Given the description of an element on the screen output the (x, y) to click on. 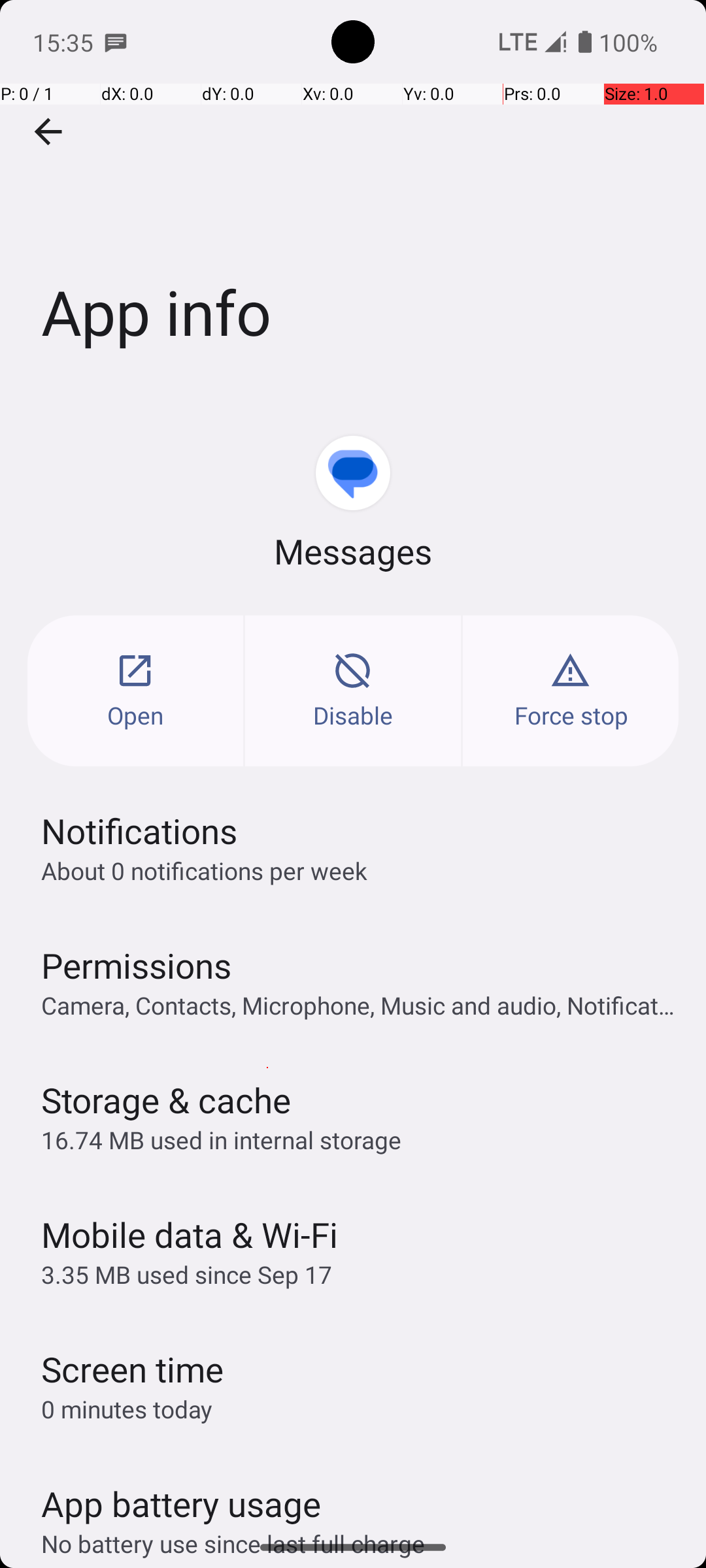
Disable Element type: android.widget.Button (352, 690)
About 0 notifications per week Element type: android.widget.TextView (204, 870)
Camera, Contacts, Microphone, Music and audio, Notifications, Phone, Photos and videos, and SMS Element type: android.widget.TextView (359, 1004)
16.74 MB used in internal storage Element type: android.widget.TextView (221, 1139)
3.35 MB used since Sep 17 Element type: android.widget.TextView (186, 1273)
0 minutes today Element type: android.widget.TextView (127, 1408)
